Given the description of an element on the screen output the (x, y) to click on. 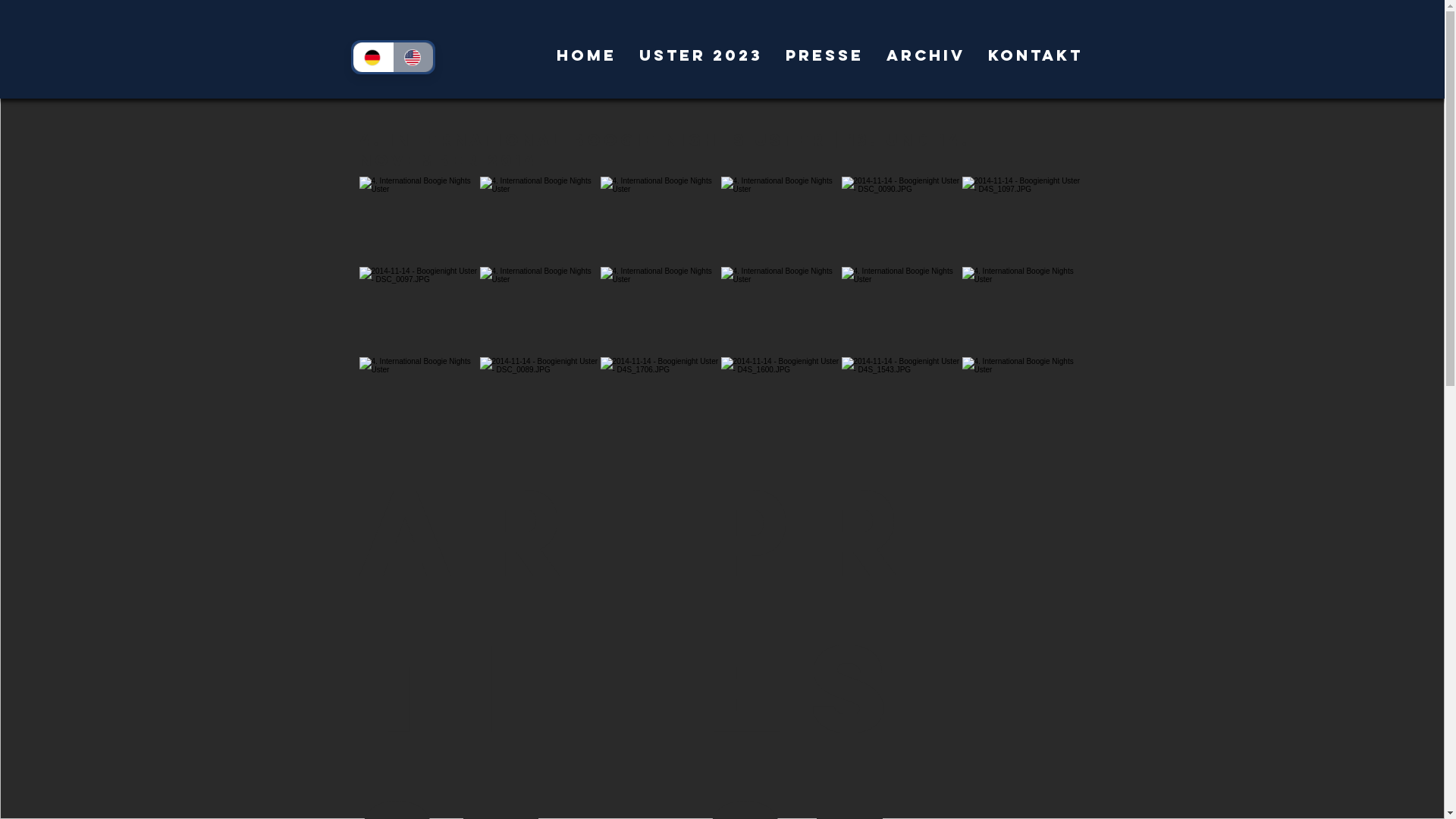
Presse Element type: text (823, 55)
Uster 2023 Element type: text (700, 55)
Archiv Element type: text (925, 55)
Home Element type: text (585, 55)
Kontakt Element type: text (1035, 55)
